Given the description of an element on the screen output the (x, y) to click on. 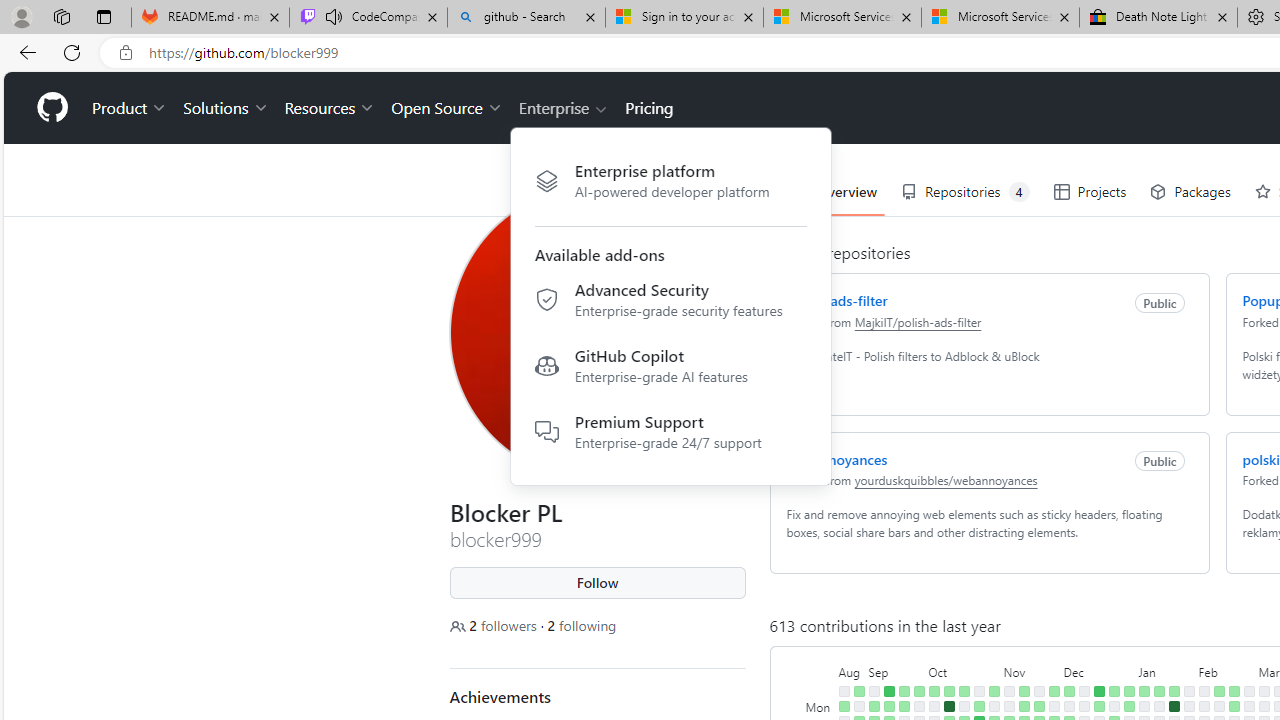
2 contributions on August 21st. (843, 706)
1 contribution on September 11th. (888, 706)
September (896, 670)
3 contributions on December 18th. (1098, 706)
4 contributions on October 23rd. (978, 706)
4 contributions on September 17th. (904, 691)
Follow (597, 583)
Advanced SecurityEnterprise-grade security features (669, 303)
November (1031, 670)
August (851, 670)
No contributions on February 25th. (1248, 691)
No contributions on October 16th. (963, 706)
Premium Support Enterprise-grade 24/7 support (669, 430)
Day of Week (819, 670)
